Given the description of an element on the screen output the (x, y) to click on. 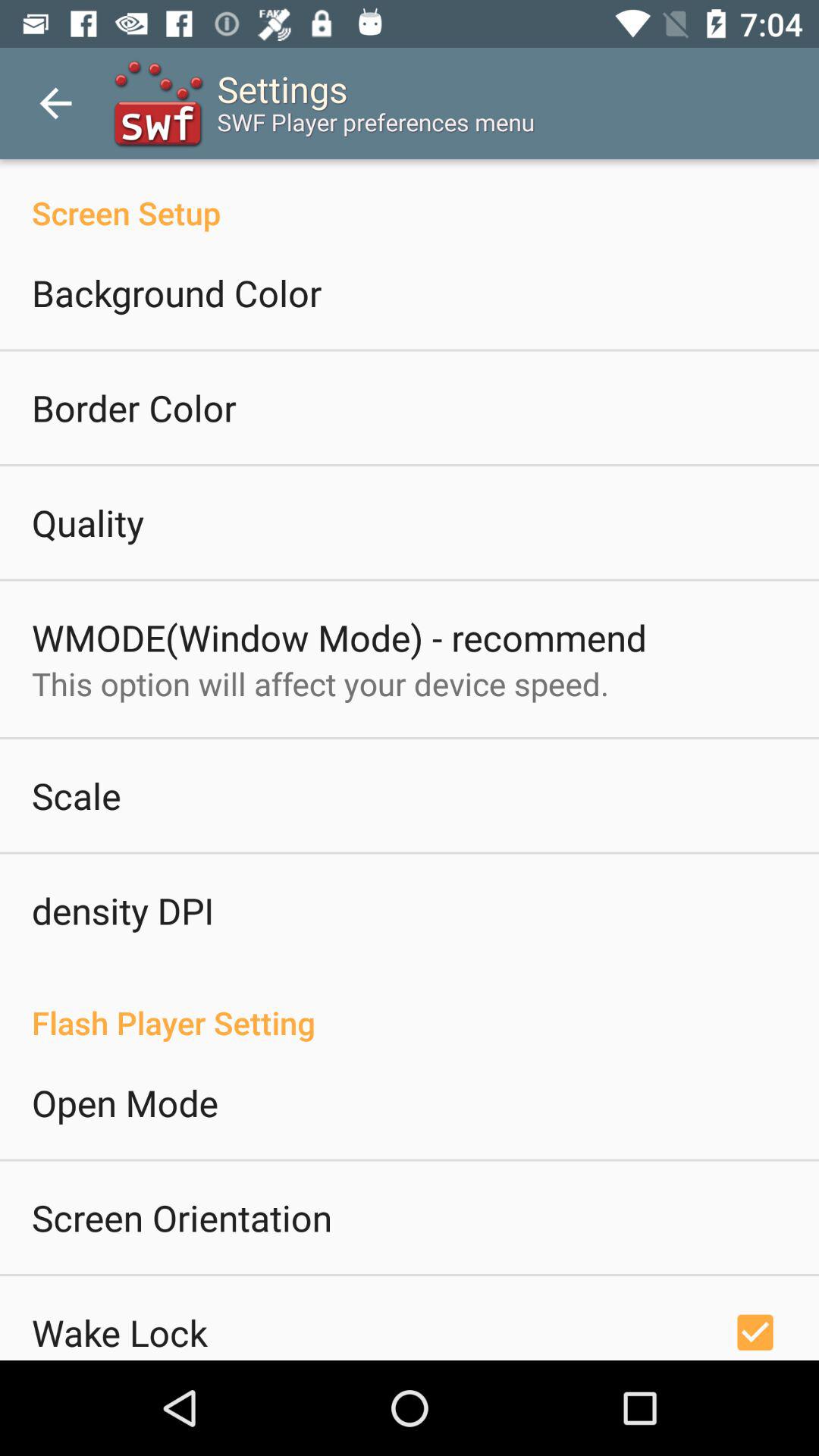
choose item above screen setup icon (55, 103)
